Given the description of an element on the screen output the (x, y) to click on. 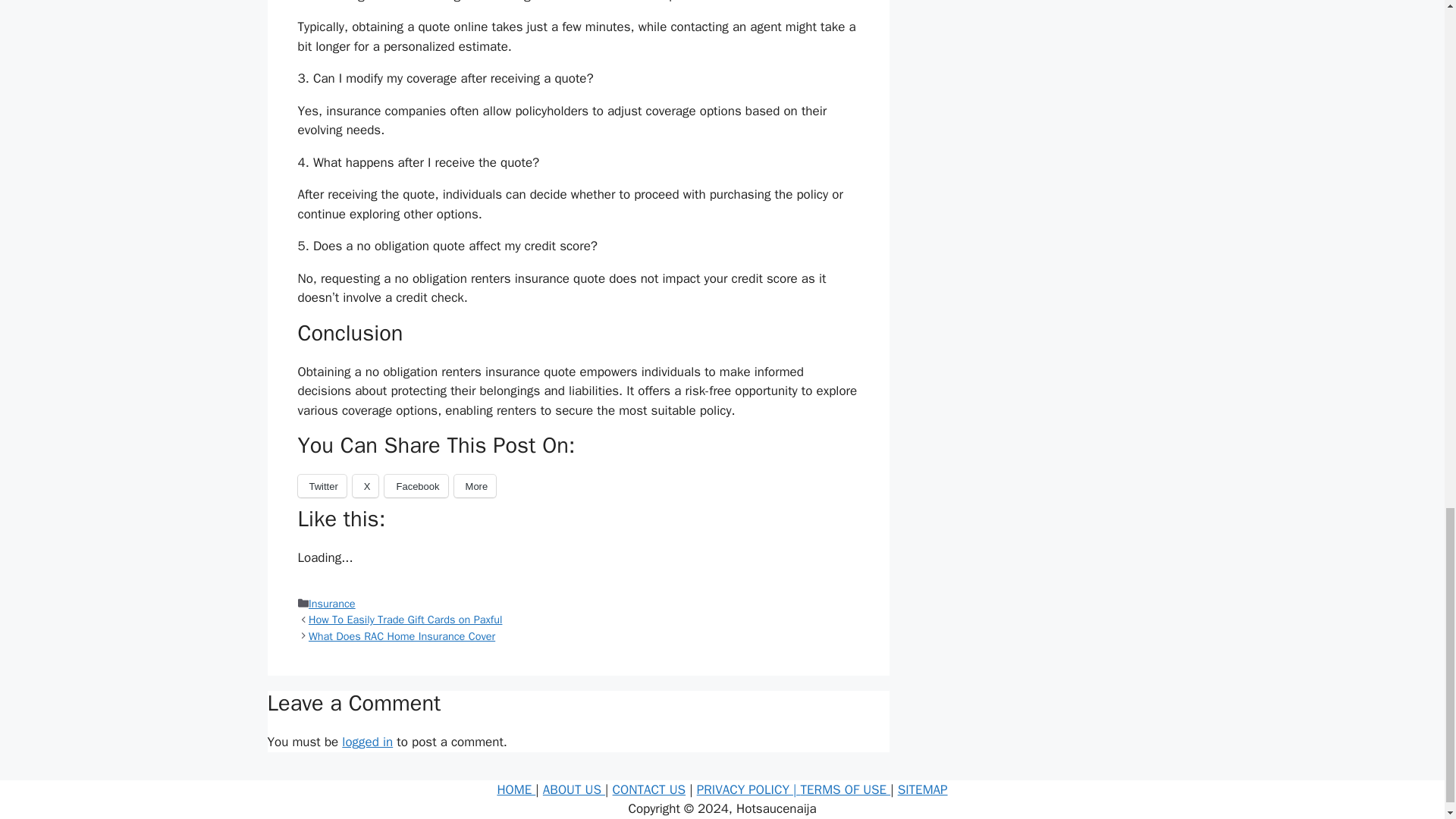
Twitter (321, 486)
How To Easily Trade Gift Cards on Paxful (405, 619)
TERMS OF USE (845, 789)
X (365, 486)
SITEMAP (922, 789)
Insurance (331, 603)
CONTACT US (648, 789)
HOME (515, 789)
logged in (367, 741)
Click to share on X (365, 486)
